Given the description of an element on the screen output the (x, y) to click on. 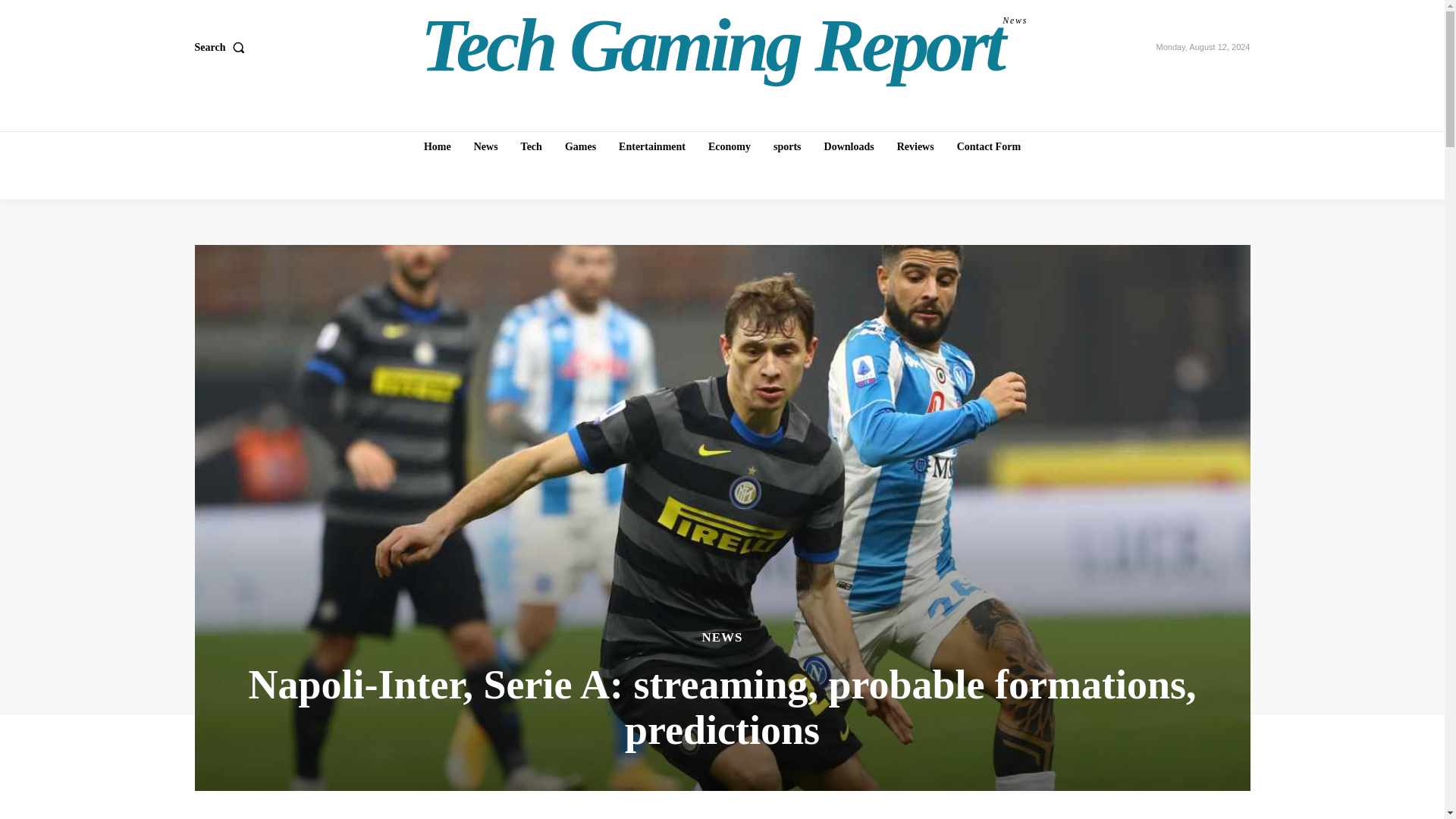
Search (221, 47)
Economy (729, 146)
Entertainment (652, 146)
News (485, 146)
Contact Form (988, 146)
Games (580, 146)
Home (437, 146)
Reviews (915, 146)
Tech (531, 146)
